Given the description of an element on the screen output the (x, y) to click on. 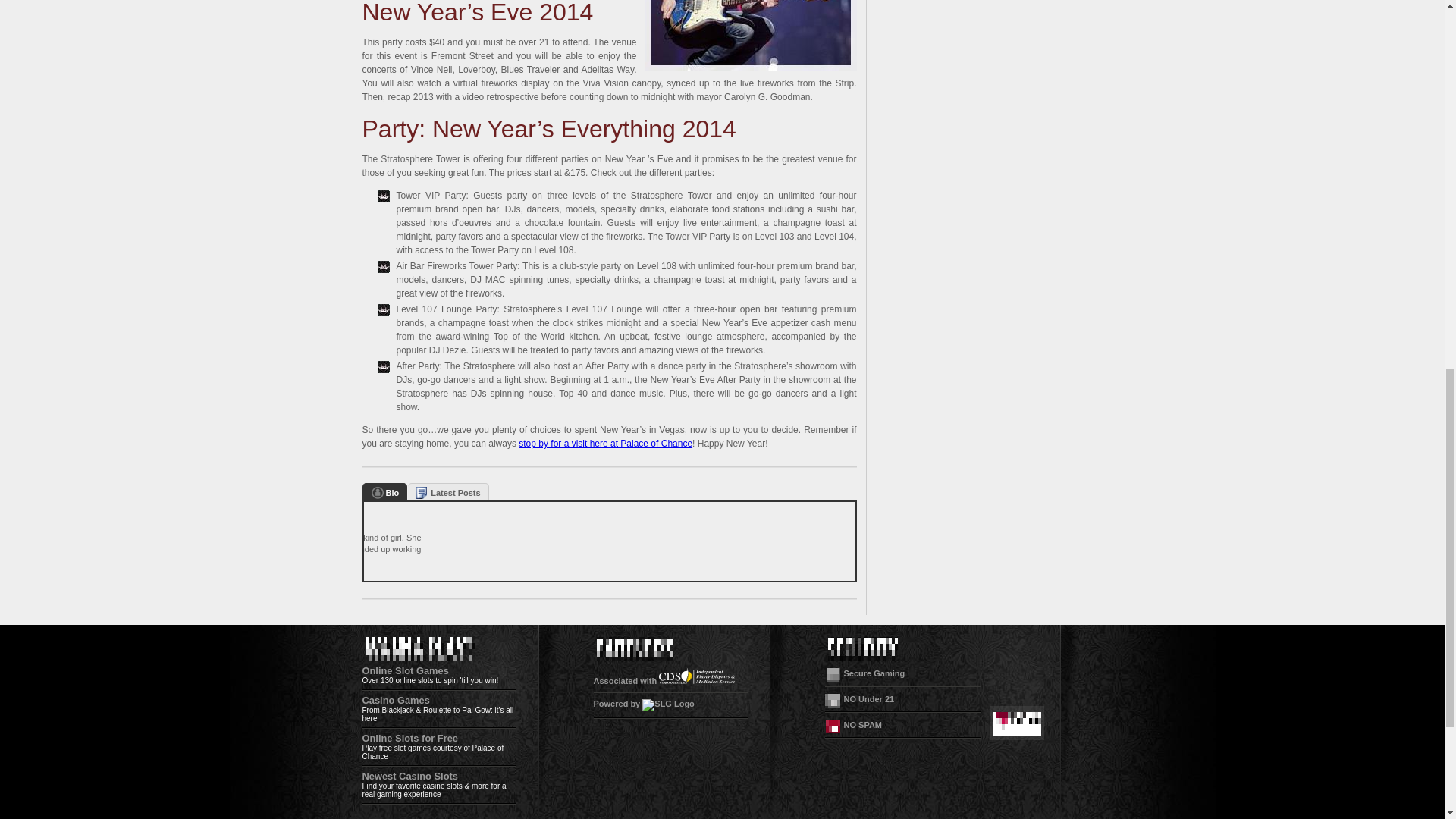
courtesy of Palace of Chance (432, 751)
it's all here (437, 713)
Over 130 online slots (397, 680)
Latest Posts (447, 492)
Associated with (663, 680)
Bio (383, 492)
stop by for a visit here at Palace of Chance (605, 443)
Powered by (643, 703)
